Given the description of an element on the screen output the (x, y) to click on. 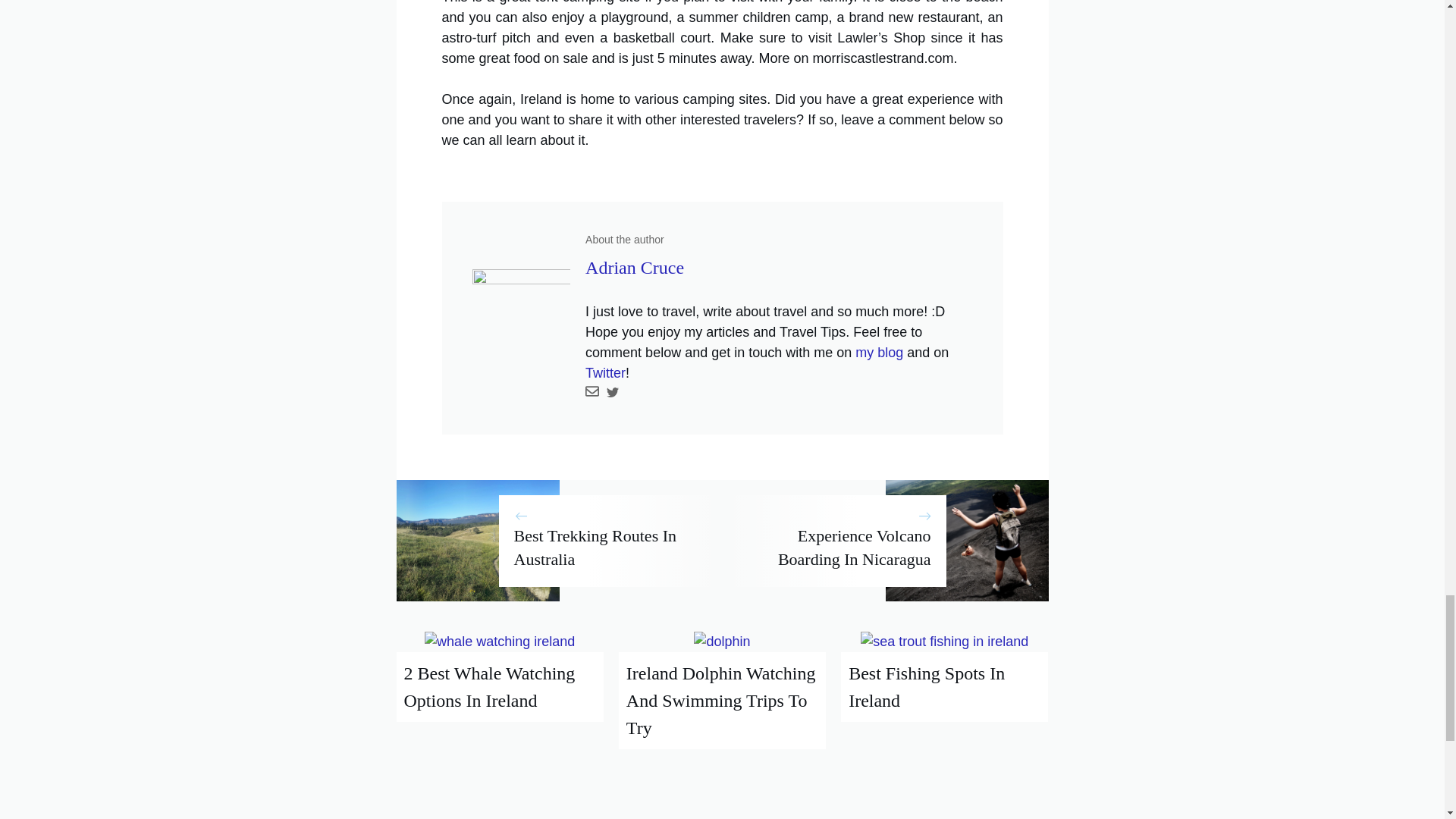
Best Trekking Routes In Australia (595, 547)
Twitter (605, 372)
Adrian Cruce (634, 267)
my blog (879, 352)
Experience Volcano Boarding In Nicaragua (854, 547)
